Given the description of an element on the screen output the (x, y) to click on. 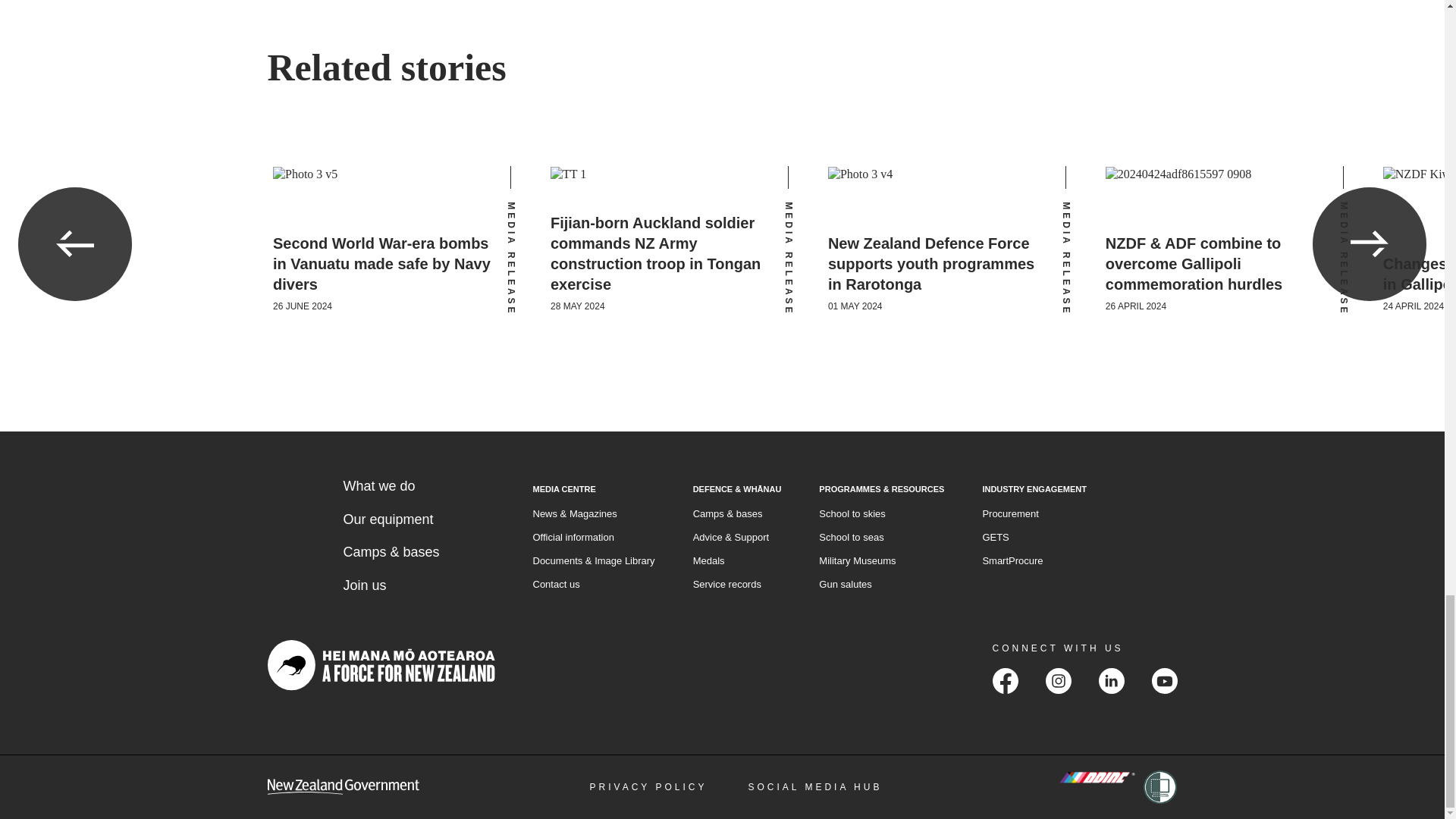
Procurement (1009, 512)
New Zealand Government (342, 786)
Medals (709, 560)
Scroll to previous stories (74, 244)
Scroll to next stories (1369, 244)
Official information (572, 536)
LinkedIn (1110, 680)
School to skies (851, 512)
Scroll to next stories (1369, 244)
